Given the description of an element on the screen output the (x, y) to click on. 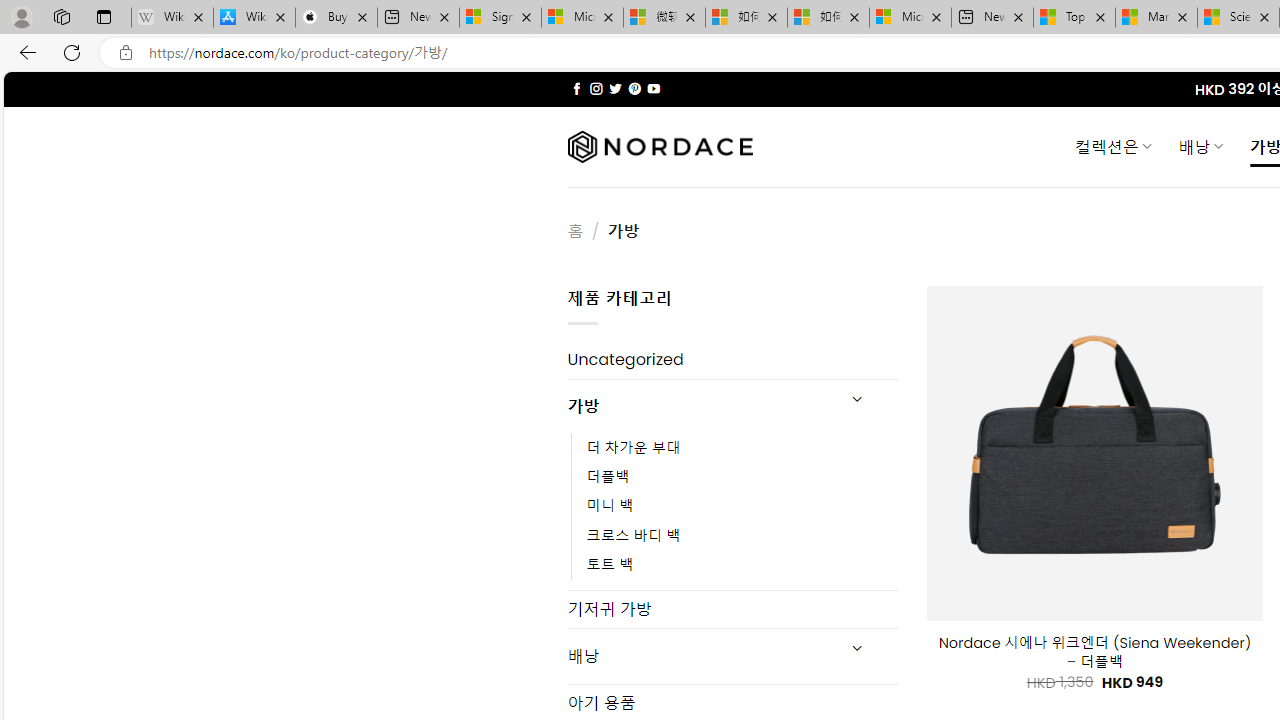
Follow on Pinterest (634, 88)
Microsoft Services Agreement (582, 17)
Marine life - MSN (1156, 17)
